Given the description of an element on the screen output the (x, y) to click on. 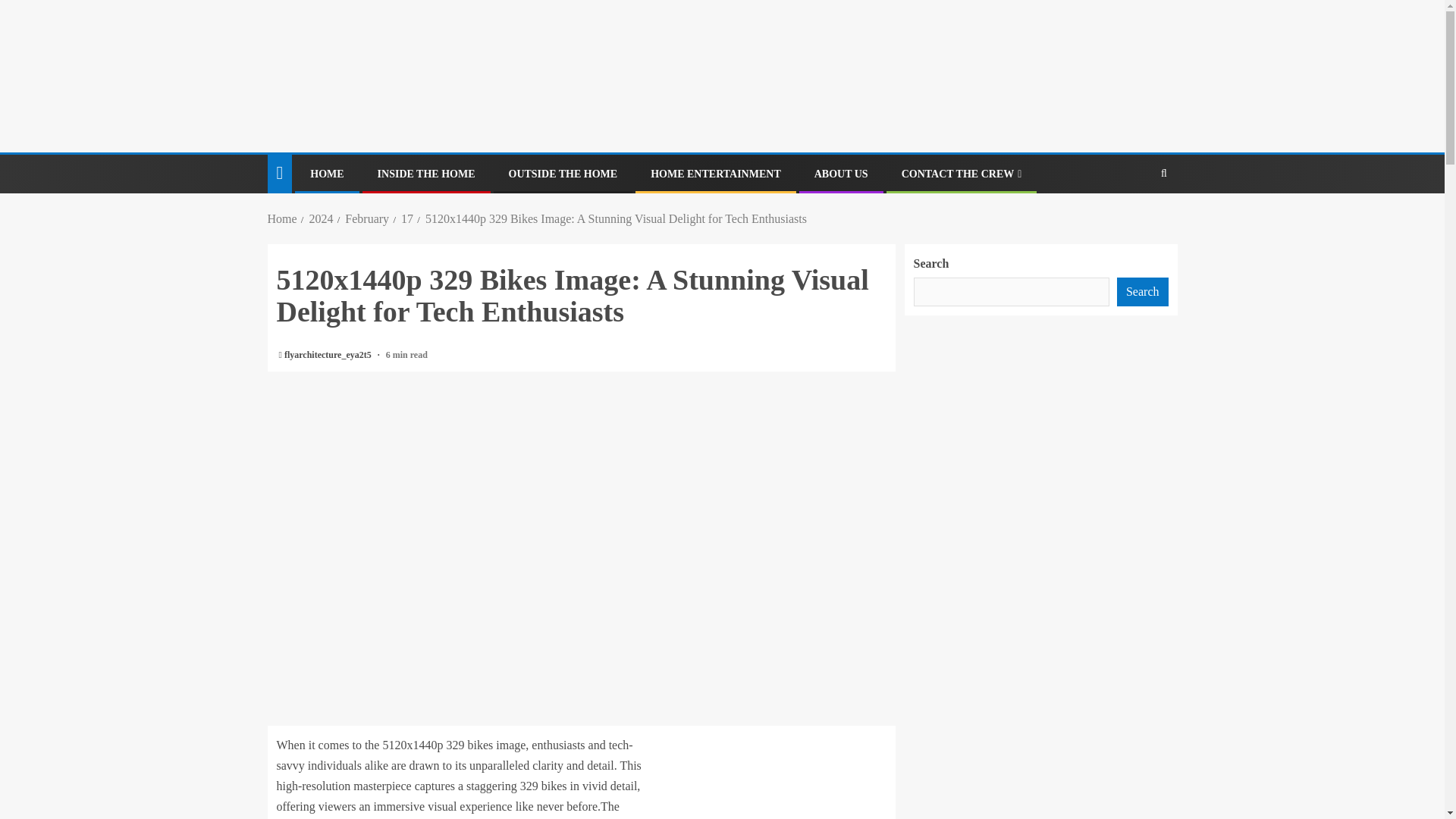
Search (1133, 219)
Home (281, 218)
HOME (326, 173)
February (366, 218)
OUTSIDE THE HOME (562, 173)
ABOUT US (840, 173)
HOME ENTERTAINMENT (715, 173)
2024 (320, 218)
17 (407, 218)
